Given the description of an element on the screen output the (x, y) to click on. 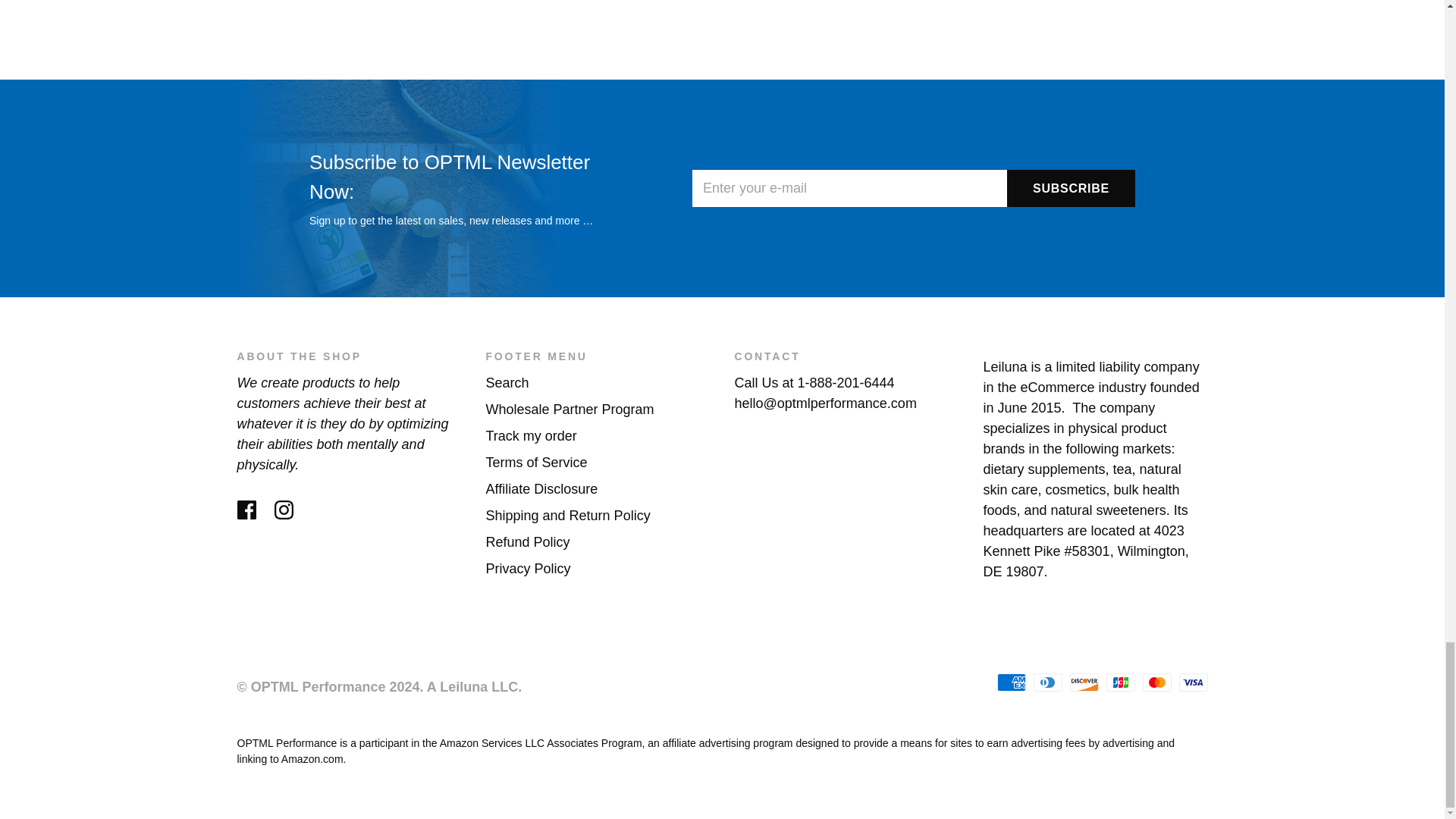
Discover (1082, 682)
JCB (1119, 682)
Instagram (284, 509)
Diners Club (1046, 682)
Facebook (245, 509)
Subscribe (1071, 188)
Mastercard (1155, 682)
Visa (1192, 682)
American Express (1010, 682)
